Given the description of an element on the screen output the (x, y) to click on. 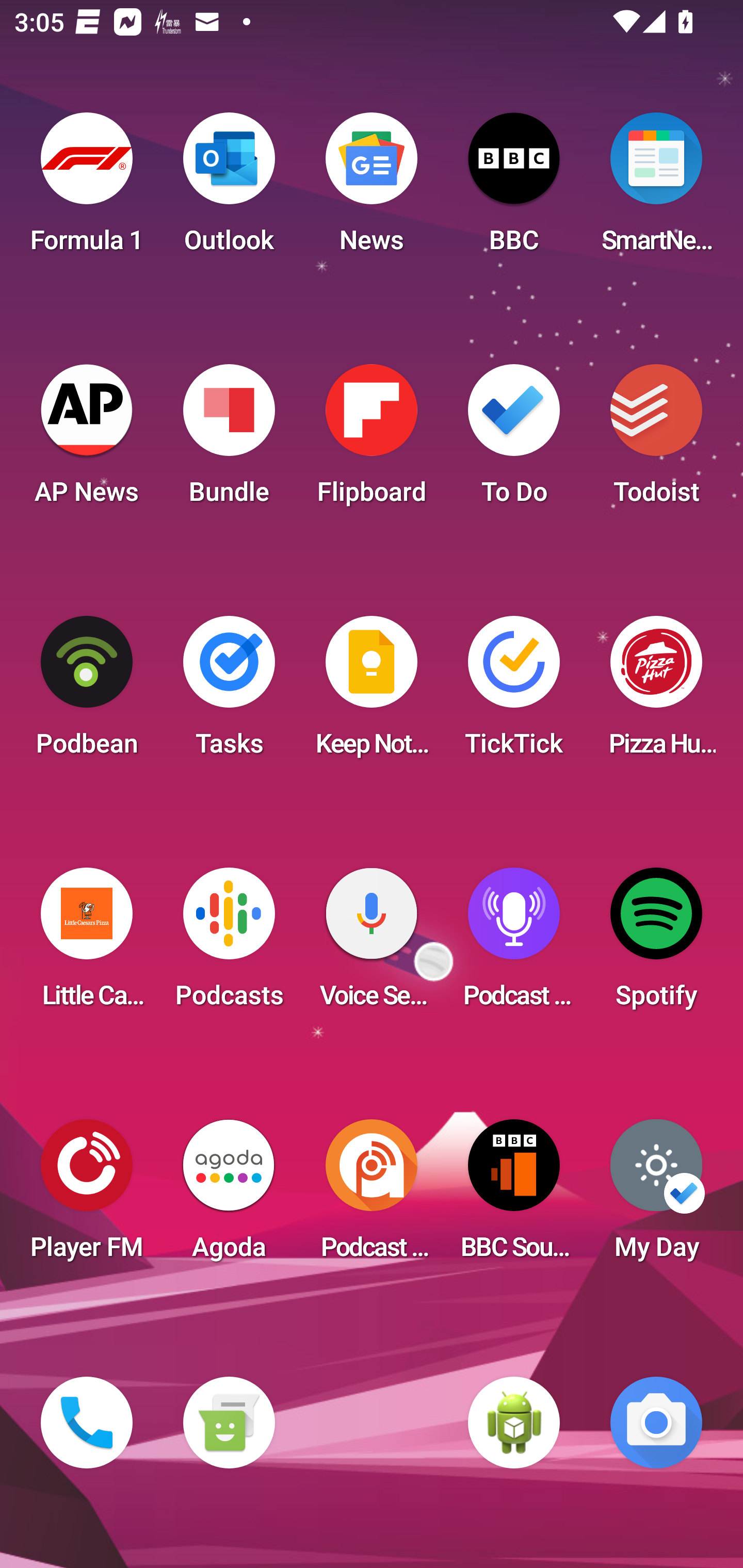
Formula 1 (86, 188)
Outlook (228, 188)
News (371, 188)
BBC (513, 188)
SmartNews (656, 188)
AP News (86, 440)
Bundle (228, 440)
Flipboard (371, 440)
To Do (513, 440)
Todoist (656, 440)
Podbean (86, 692)
Tasks (228, 692)
Keep Notes (371, 692)
TickTick (513, 692)
Pizza Hut HK & Macau (656, 692)
Little Caesars Pizza (86, 943)
Podcasts (228, 943)
Voice Search (371, 943)
Podcast Player (513, 943)
Spotify (656, 943)
Player FM (86, 1195)
Agoda (228, 1195)
Podcast Addict (371, 1195)
BBC Sounds (513, 1195)
My Day (656, 1195)
Phone (86, 1422)
Messaging (228, 1422)
WebView Browser Tester (513, 1422)
Camera (656, 1422)
